Given the description of an element on the screen output the (x, y) to click on. 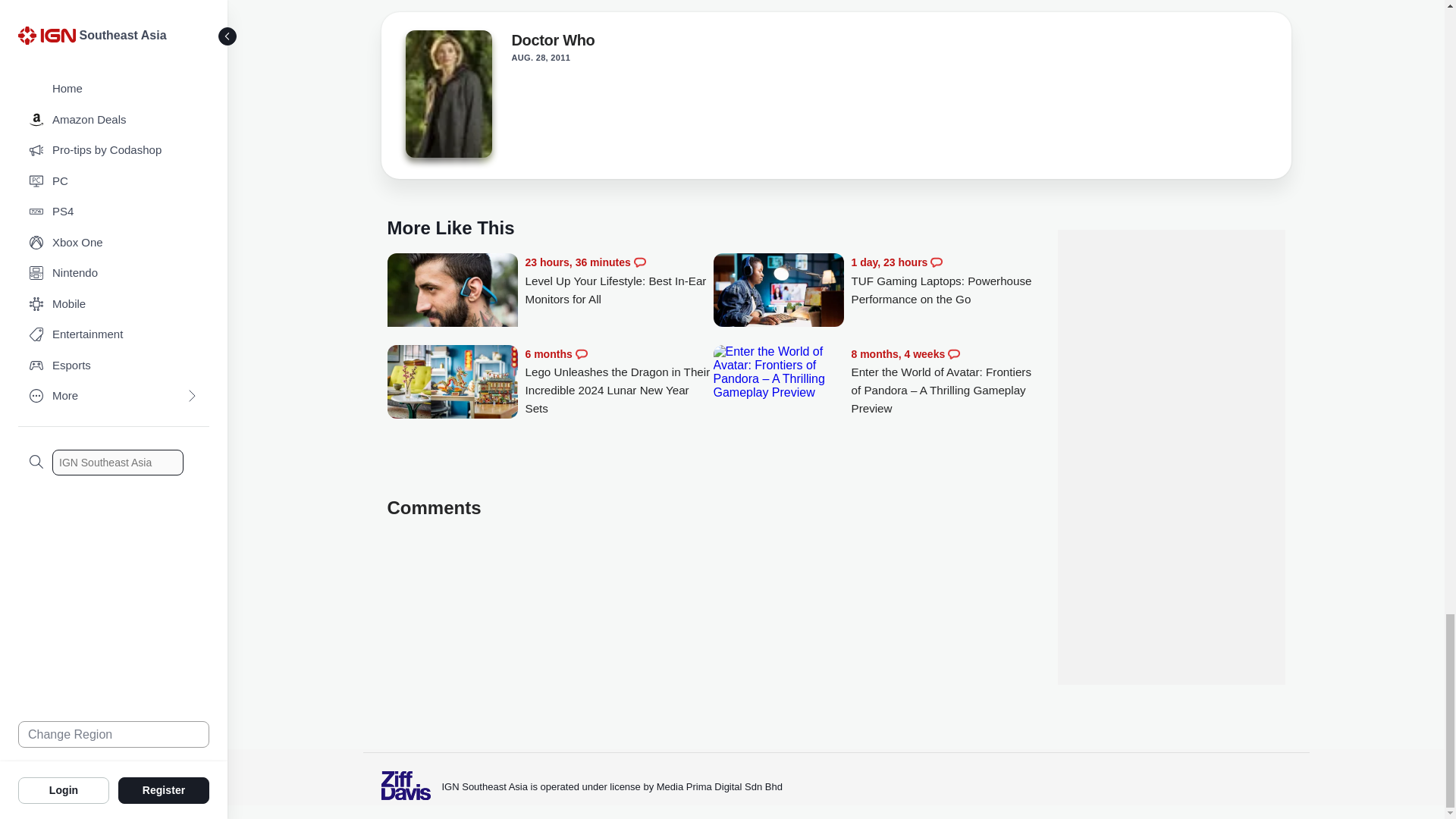
Level Up Your Lifestyle: Best In-Ear Monitors for All (451, 298)
TUF Gaming Laptops: Powerhouse Performance on the Go (944, 280)
Level Up Your Lifestyle: Best In-Ear Monitors for All (618, 280)
Comments (936, 262)
TUF Gaming Laptops: Powerhouse Performance on the Go (778, 291)
Comments (581, 354)
Doctor Who (552, 42)
Comments (639, 262)
